Given the description of an element on the screen output the (x, y) to click on. 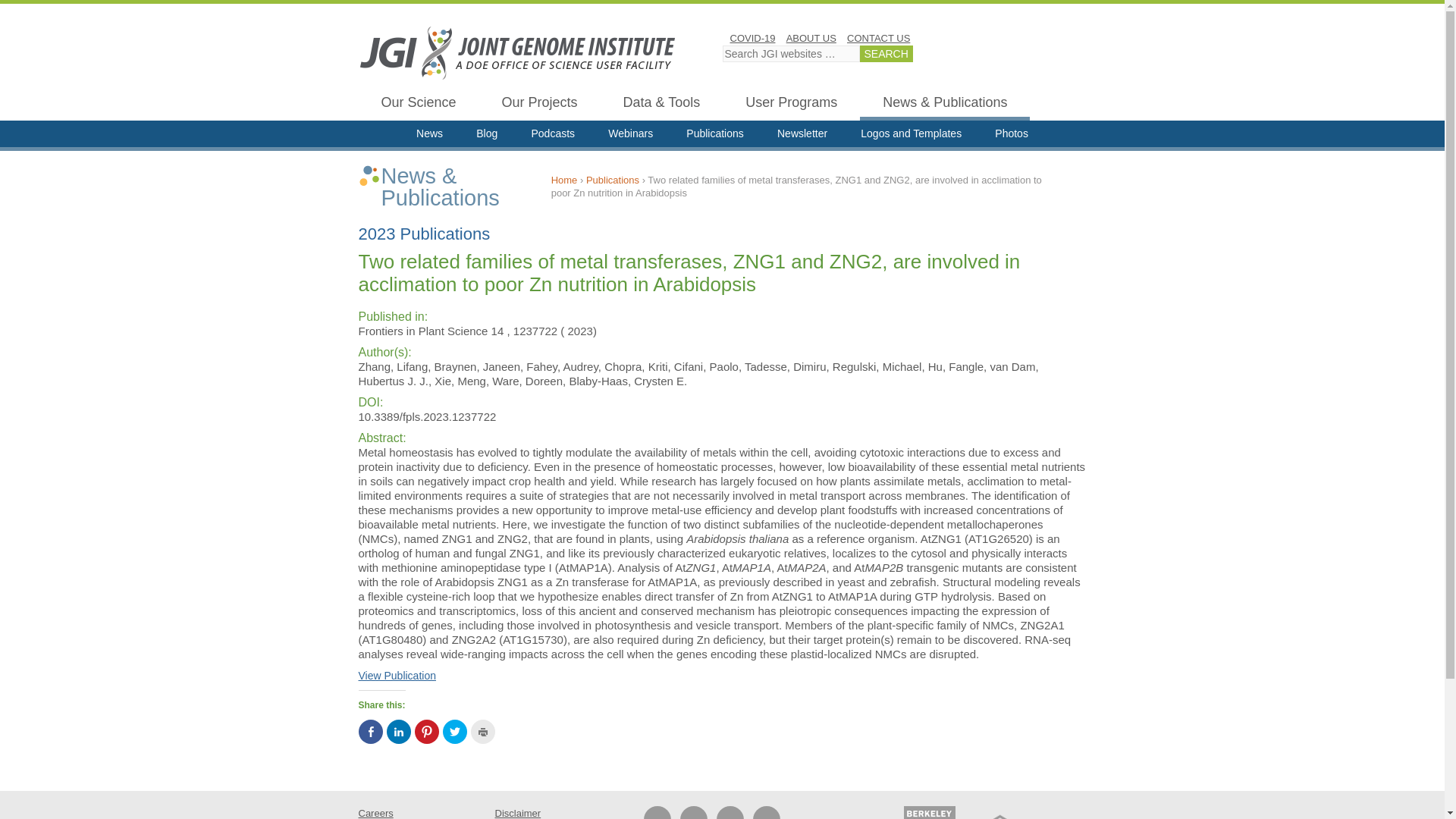
Search (886, 53)
Click to share on LinkedIn (398, 731)
Click to share on Pinterest (425, 731)
Our Projects (539, 104)
DOE Joint Genome Institute (517, 52)
Click to share on Twitter (454, 731)
Our Science (418, 104)
ABOUT US (810, 38)
Click to print (482, 731)
COVID-19 (751, 38)
CONTACT US (878, 38)
Search (886, 53)
Click to share on Facebook (369, 731)
